Given the description of an element on the screen output the (x, y) to click on. 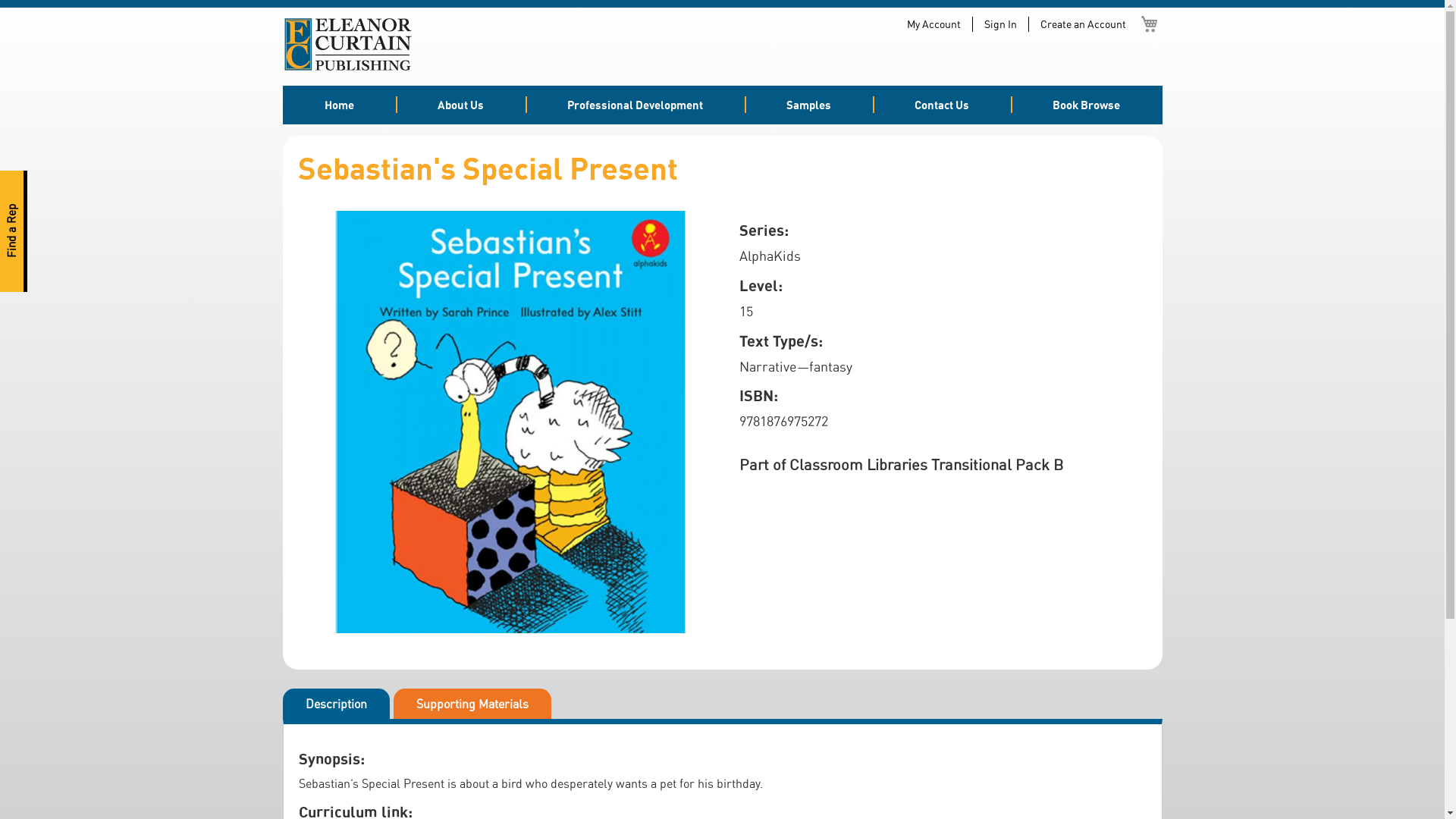
Supporting Materials Element type: text (471, 703)
My Account Element type: text (933, 23)
Find a Rep Element type: text (60, 183)
Home Element type: text (338, 104)
About Us Element type: text (460, 104)
Samples Element type: text (808, 104)
Book Browse Element type: text (1085, 104)
Sign In Element type: text (1000, 23)
My Cart Element type: text (1148, 23)
Professional Development Element type: text (634, 104)
Contact Us Element type: text (941, 104)
Create an Account Element type: text (1083, 23)
Description Element type: text (335, 703)
